Given the description of an element on the screen output the (x, y) to click on. 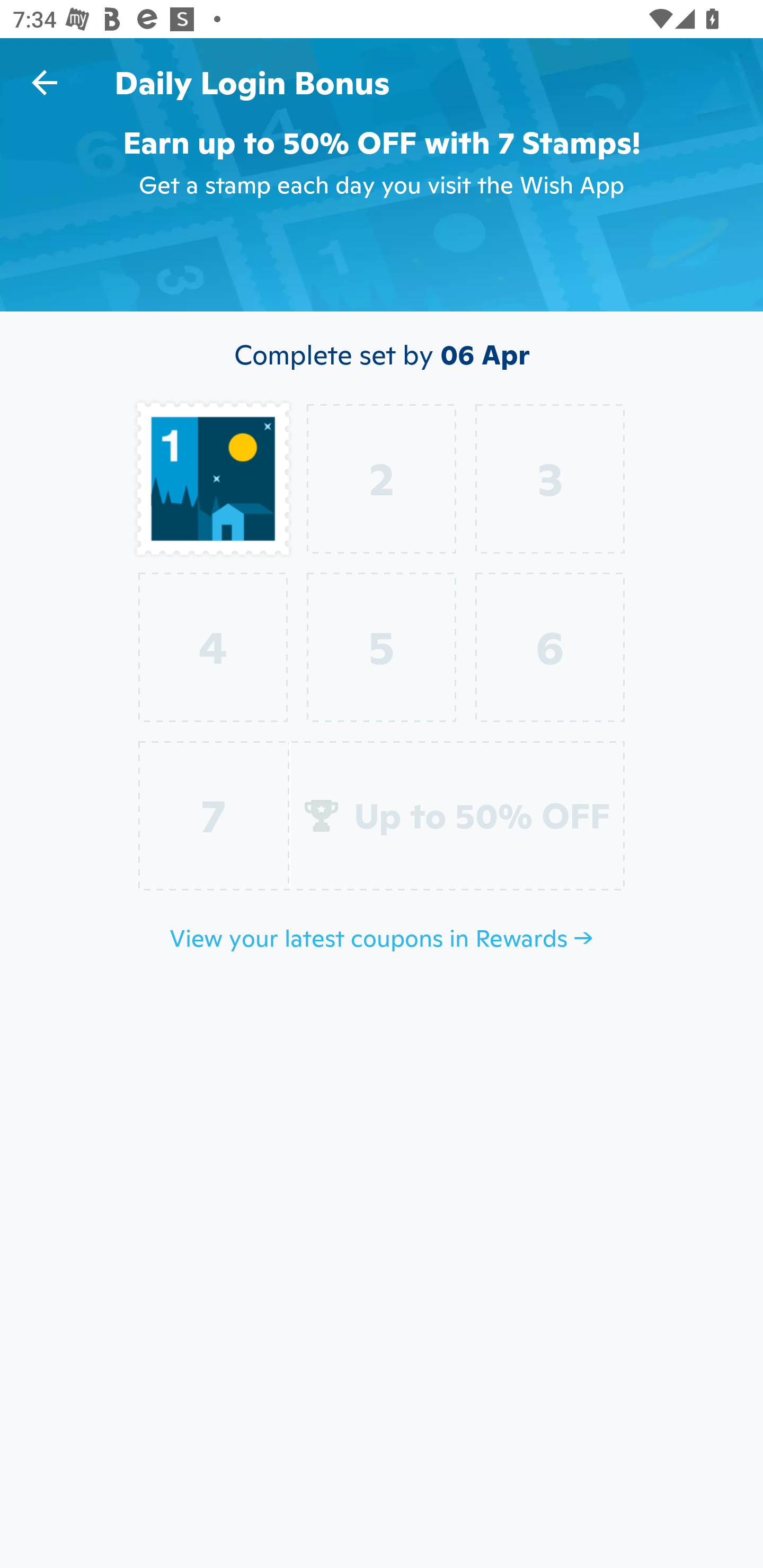
Navigate up (44, 82)
View your latest coupons in Rewards → (381, 938)
